Given the description of an element on the screen output the (x, y) to click on. 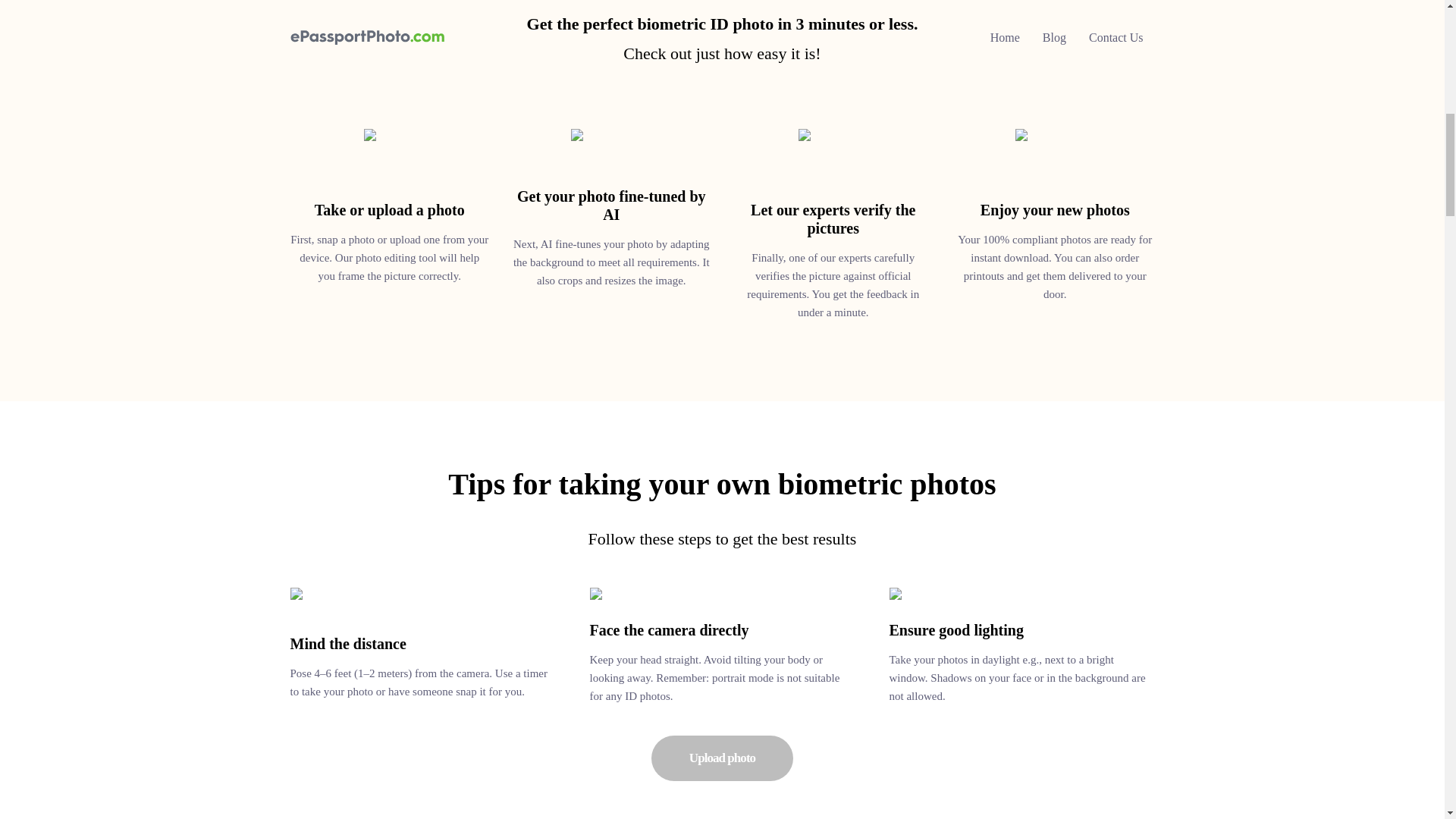
Upload photo (721, 758)
Upload photo (721, 33)
